Given the description of an element on the screen output the (x, y) to click on. 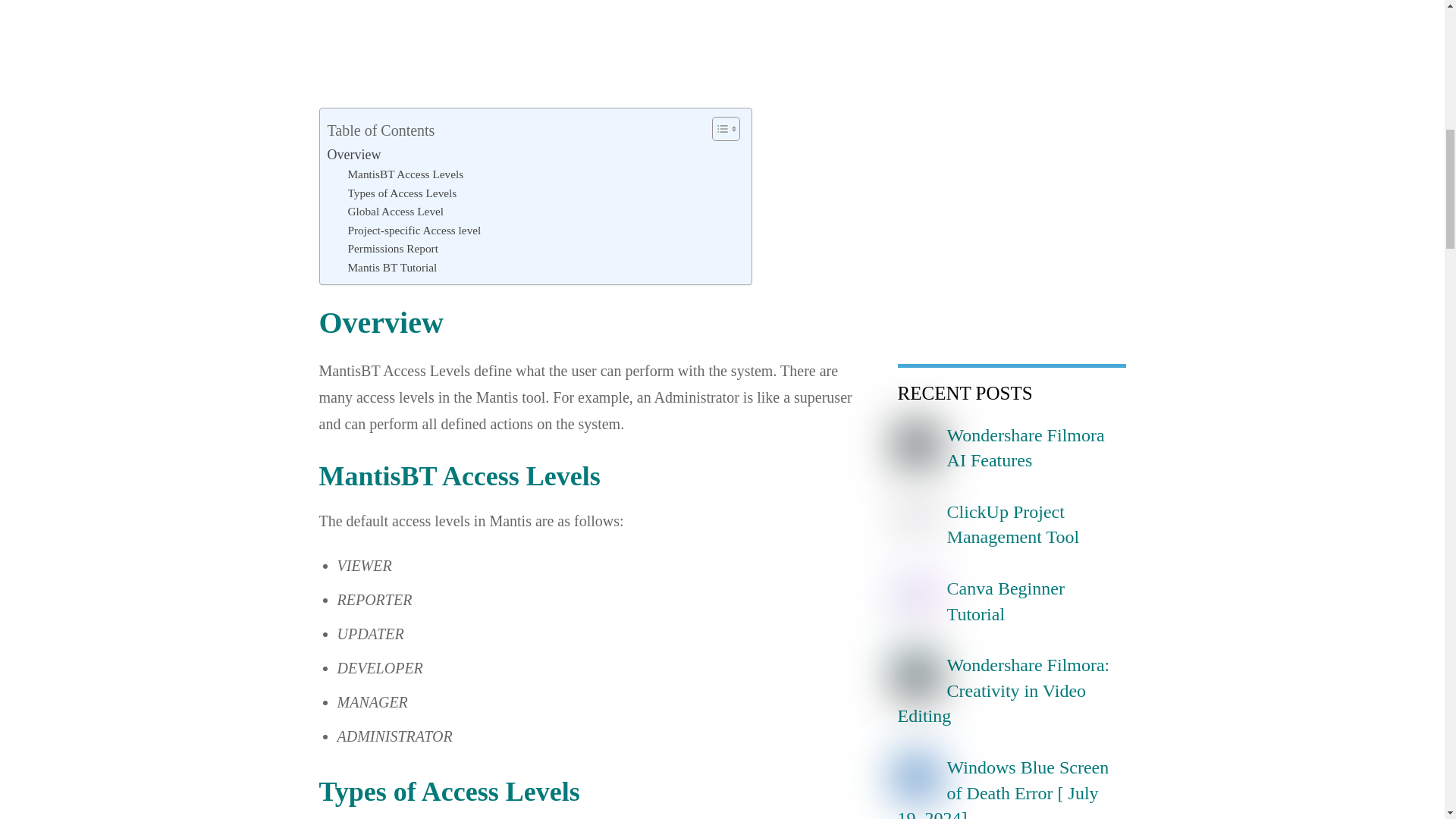
Global Access Level (395, 211)
Mantis BT Tutorial (391, 267)
Advertisement (591, 34)
Overview (354, 155)
Permissions Report (392, 248)
Global Access Level (395, 211)
MantisBT Access Levels (405, 174)
MantisBT Access Levels (405, 174)
Types of Access Levels  (403, 193)
Overview (354, 155)
Project-specific Access level (413, 230)
